Given the description of an element on the screen output the (x, y) to click on. 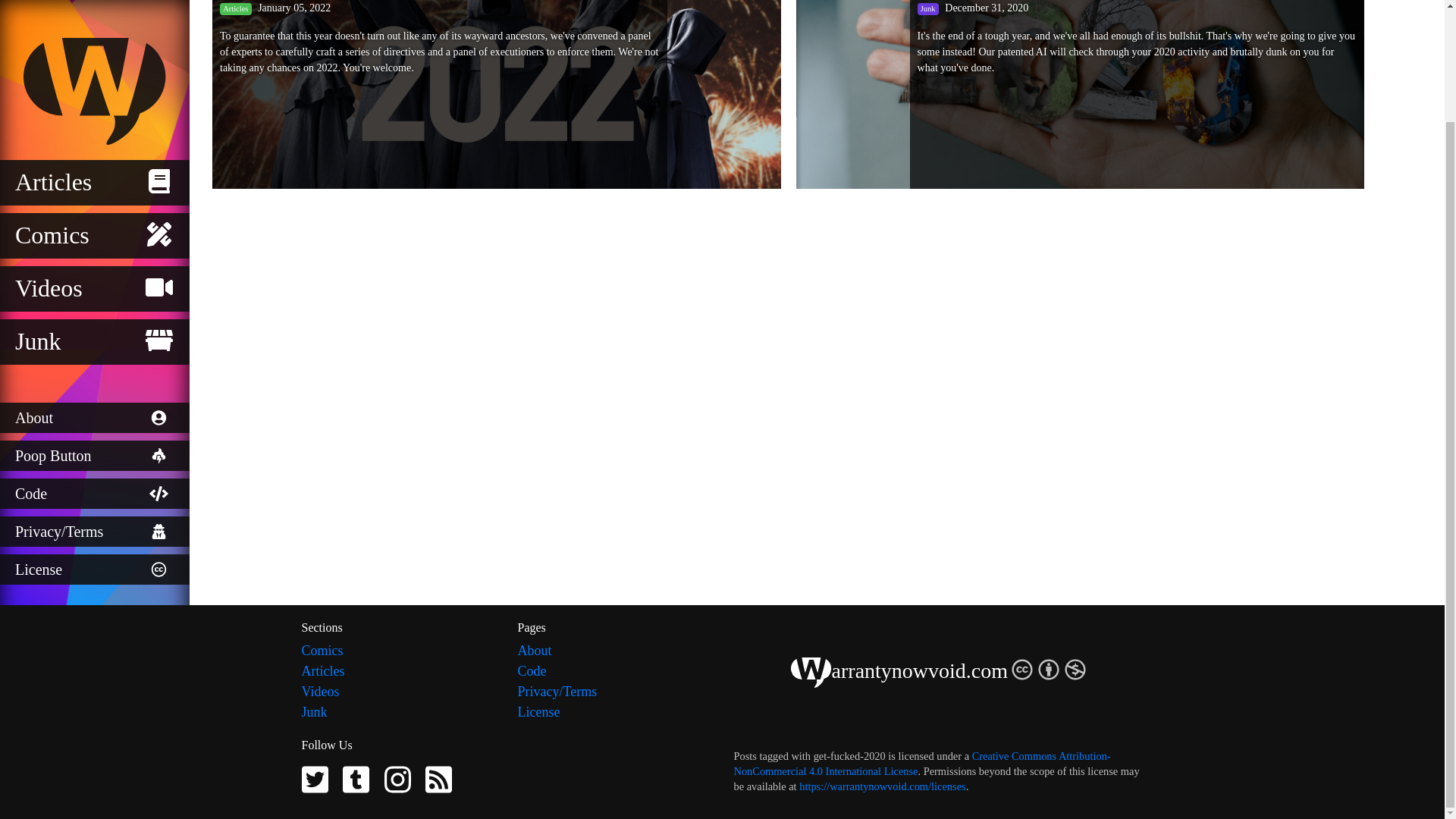
License (94, 437)
Comics (94, 103)
Junk (94, 209)
Code (613, 670)
About (94, 286)
Poop Button (94, 323)
Videos (398, 691)
Warranty Now Void (810, 672)
Articles (398, 670)
Junk (398, 711)
Articles (94, 50)
Videos (94, 156)
Warranty Now Void (94, 6)
About (613, 650)
